Given the description of an element on the screen output the (x, y) to click on. 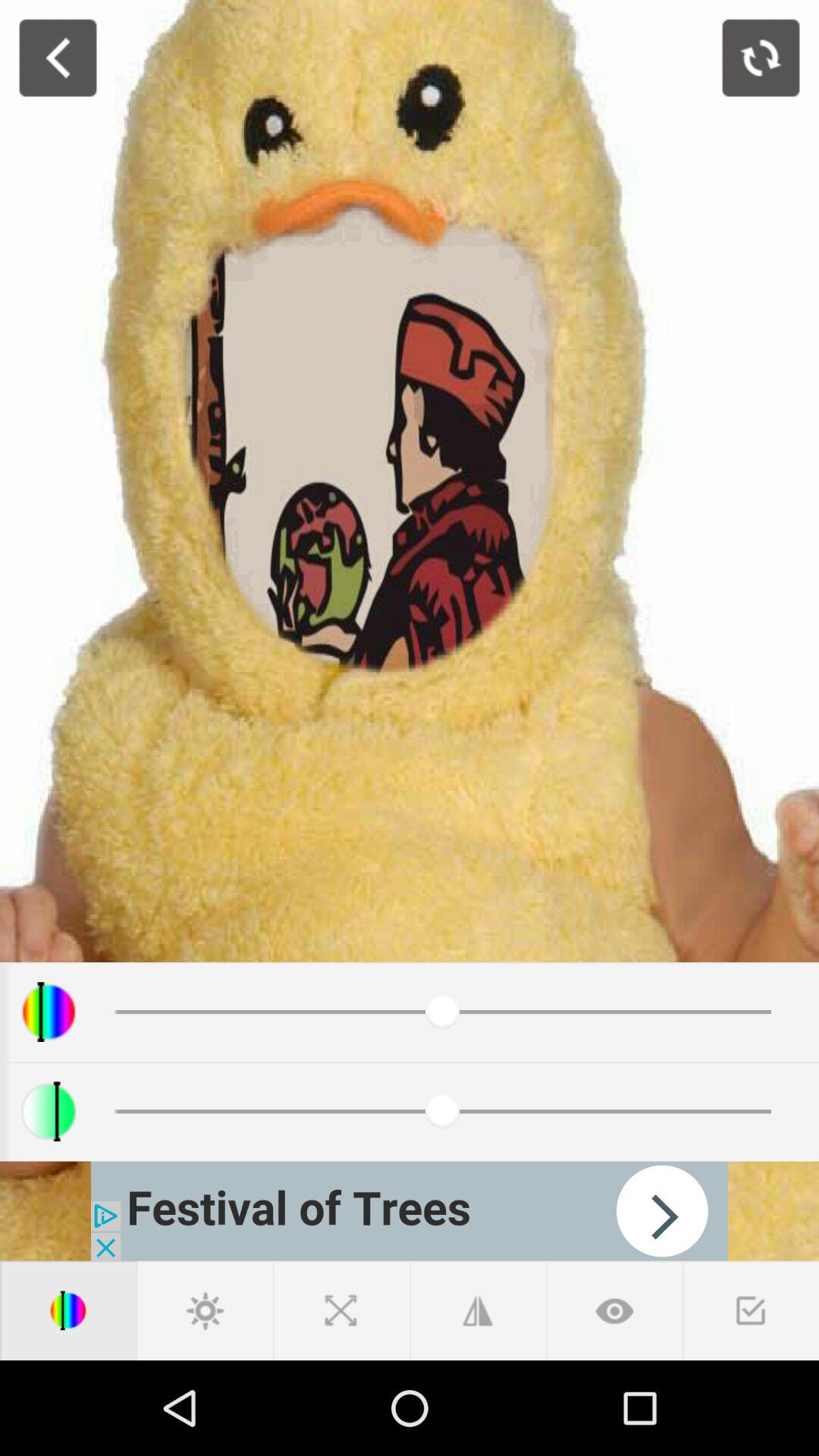
toggle autoplay option (409, 1210)
